Given the description of an element on the screen output the (x, y) to click on. 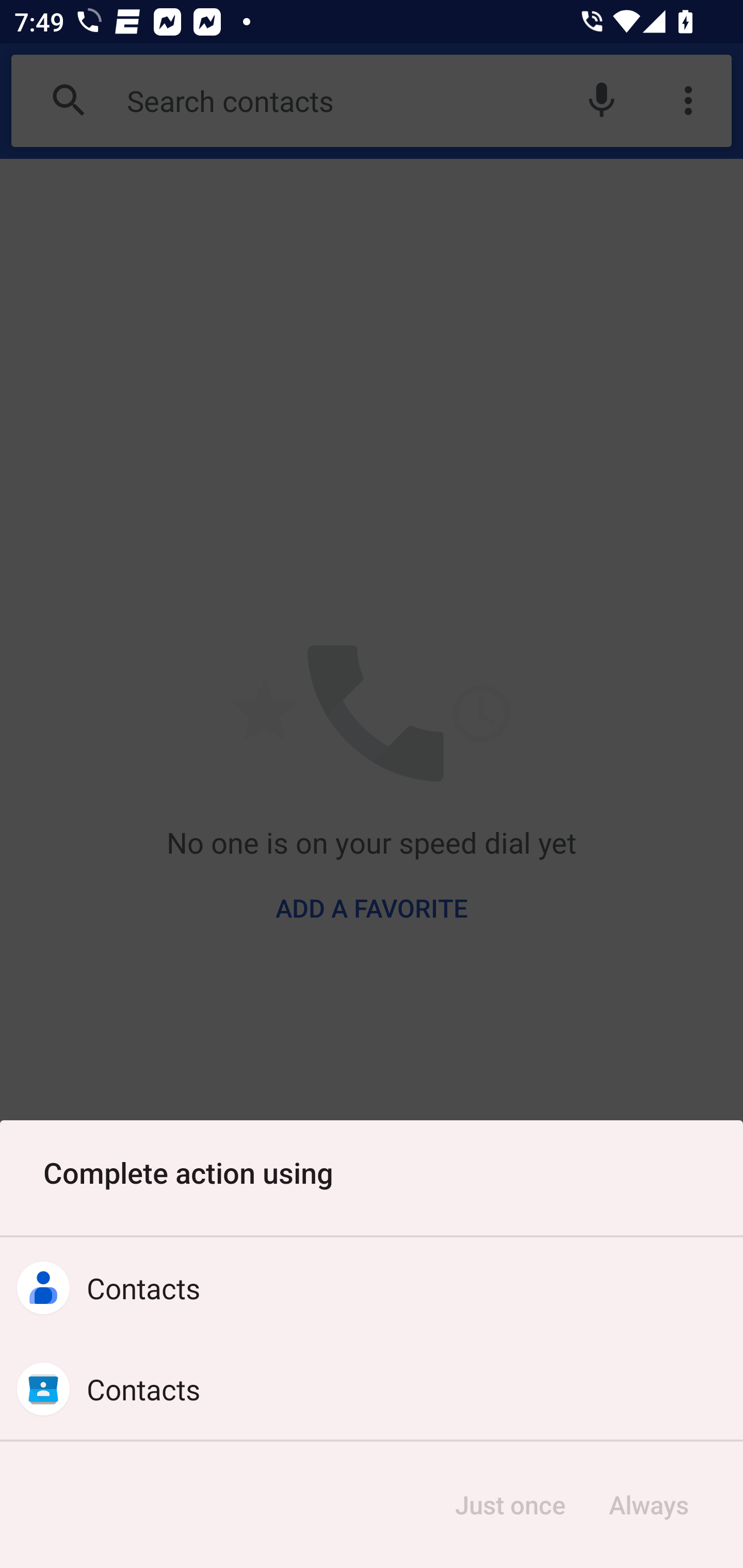
Contacts (371, 1288)
Contacts (371, 1389)
Just once (509, 1504)
Always (648, 1504)
